Given the description of an element on the screen output the (x, y) to click on. 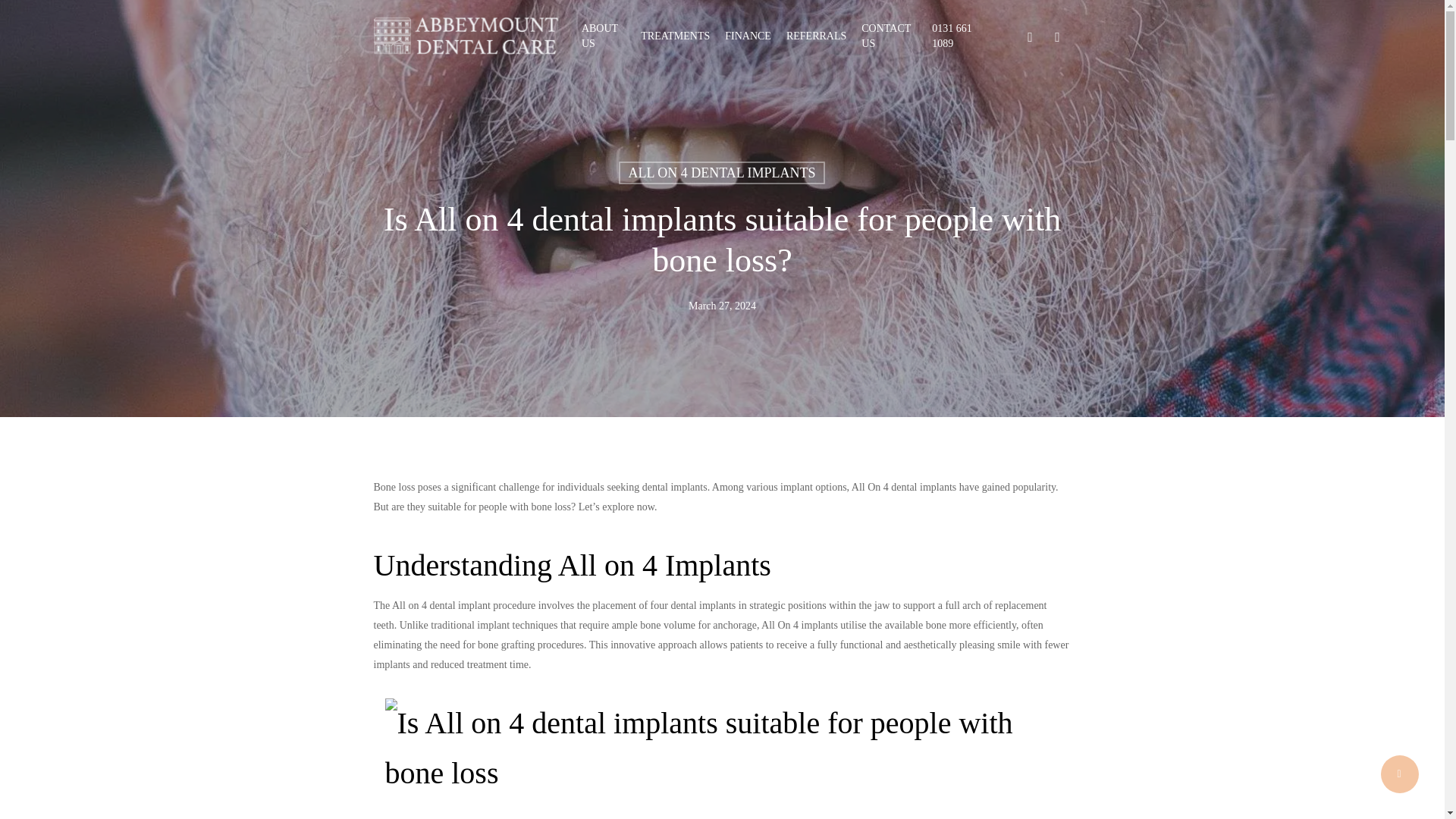
0131 661 1089 (958, 36)
ABOUT US (603, 36)
FACEBOOK (1029, 36)
INSTAGRAM (1056, 36)
REFERRALS (815, 36)
CONTACT US (889, 36)
FINANCE (748, 36)
TREATMENTS (675, 36)
